Given the description of an element on the screen output the (x, y) to click on. 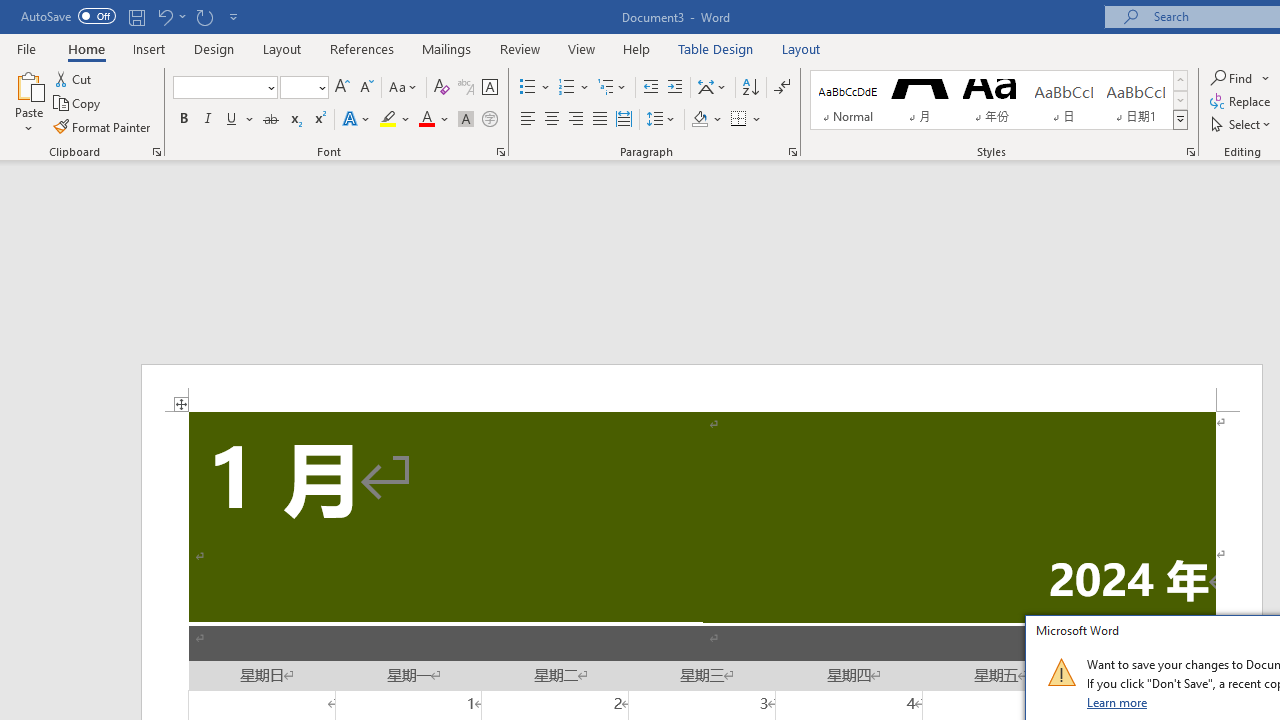
Undo Apply Quick Style (164, 15)
Line and Paragraph Spacing (661, 119)
Character Border (489, 87)
Multilevel List (613, 87)
Font Color RGB(255, 0, 0) (426, 119)
Bold (183, 119)
Strikethrough (270, 119)
Align Left (527, 119)
Center (552, 119)
Decrease Indent (650, 87)
